Given the description of an element on the screen output the (x, y) to click on. 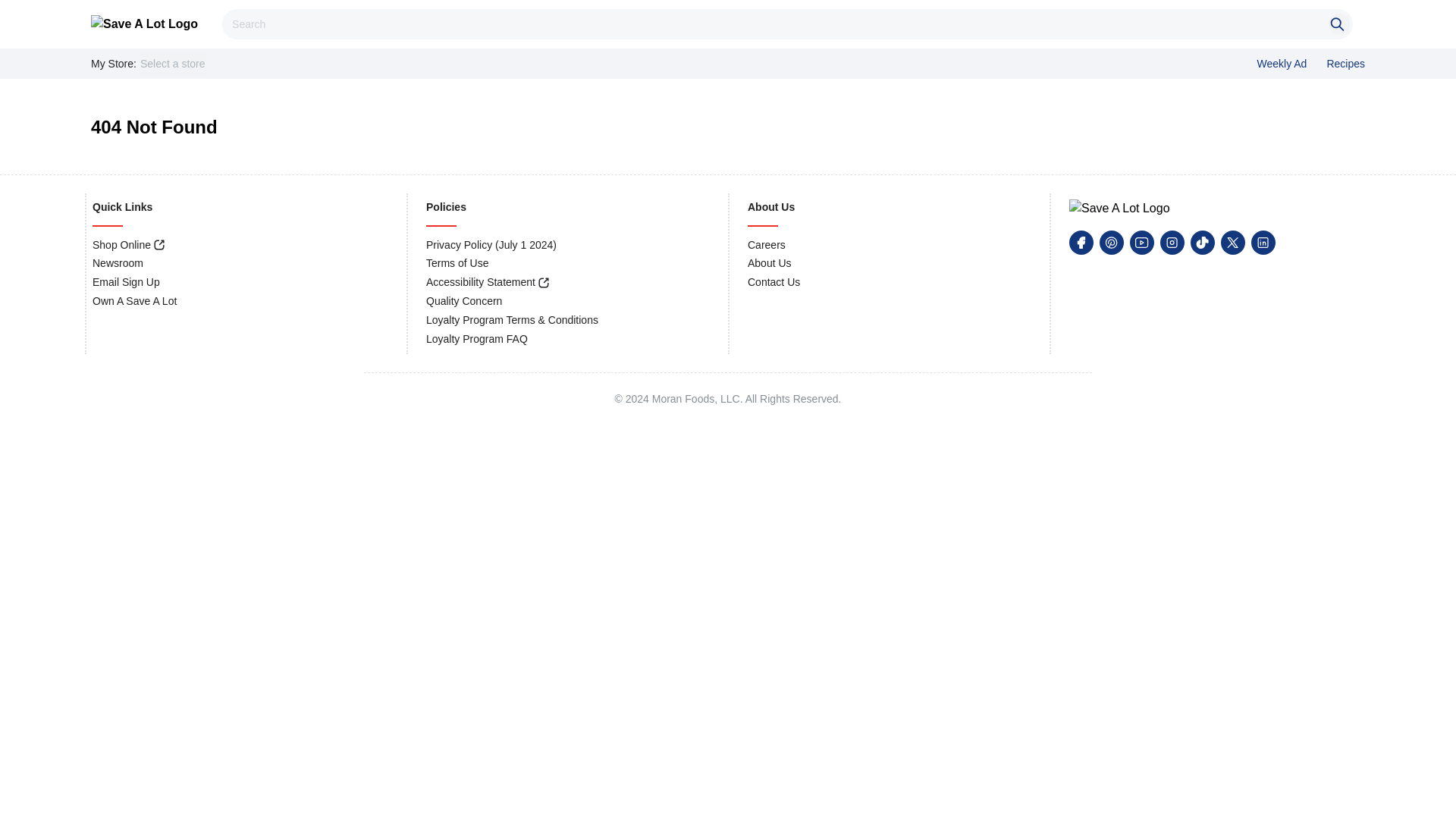
Contact Us (773, 282)
Accessibility Statement (480, 282)
Terms of Use (456, 263)
Recipes (1345, 62)
Careers (767, 244)
Own A Save A Lot (134, 300)
Weekly Ad (1281, 62)
Shop Online (122, 244)
Email Sign Up (126, 282)
Newsroom (117, 263)
Quality Concern (464, 300)
Select a store (172, 62)
About Us (770, 263)
Loyalty Program FAQ (476, 338)
